Given the description of an element on the screen output the (x, y) to click on. 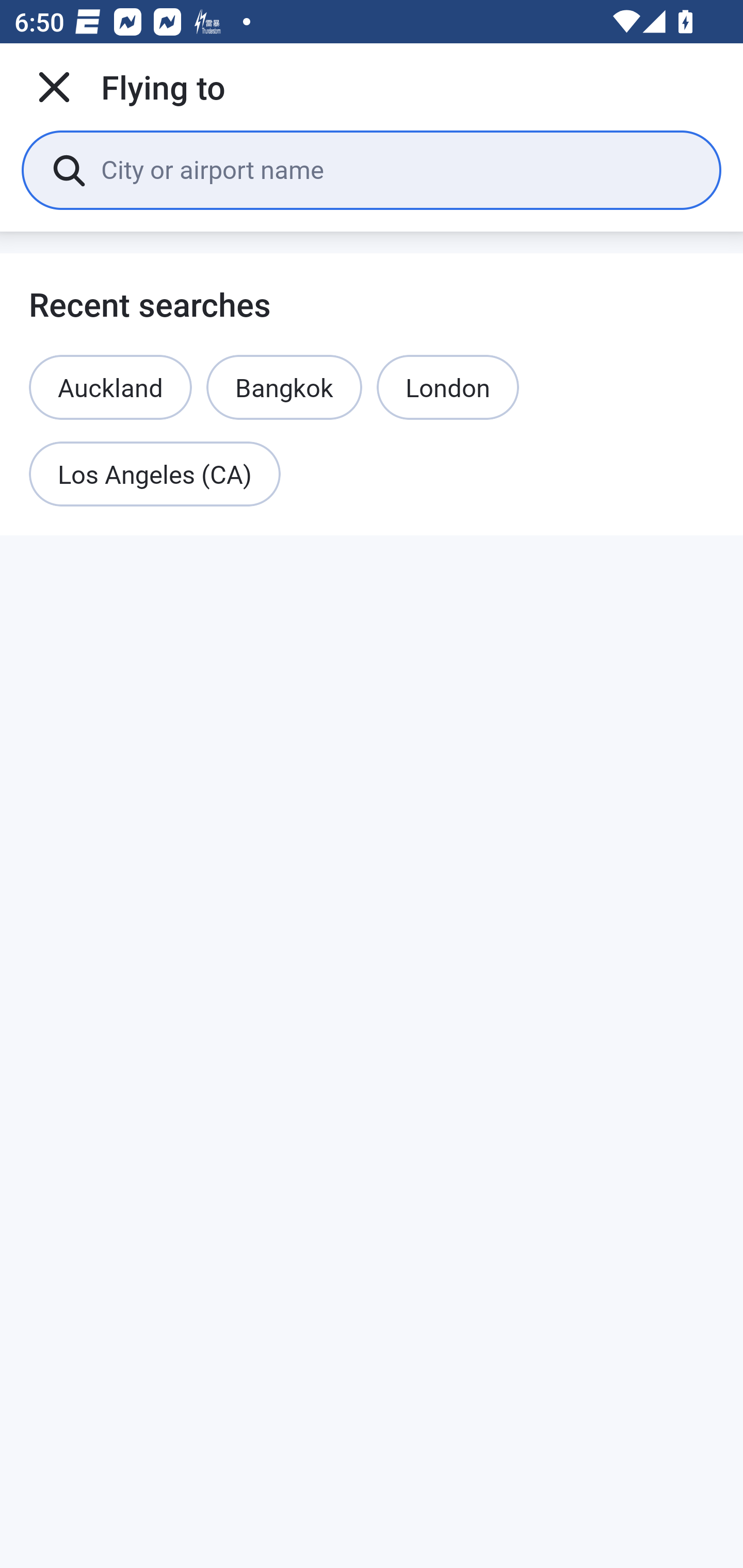
City or airport name (396, 169)
Auckland (109, 387)
Bangkok (284, 387)
London (447, 387)
Los Angeles (CA) (154, 474)
